Given the description of an element on the screen output the (x, y) to click on. 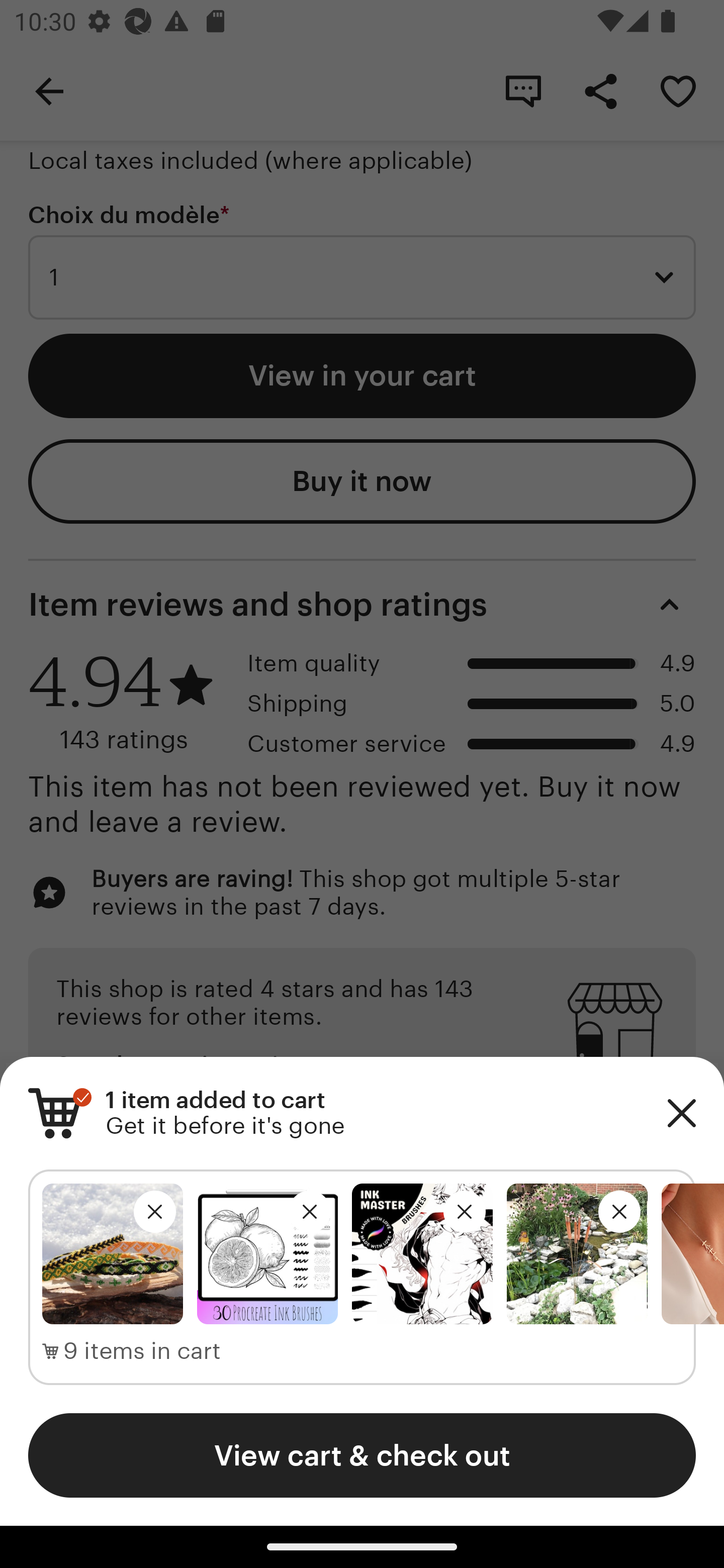
9 items in cart (131, 1351)
View cart & check out (361, 1454)
